Given the description of an element on the screen output the (x, y) to click on. 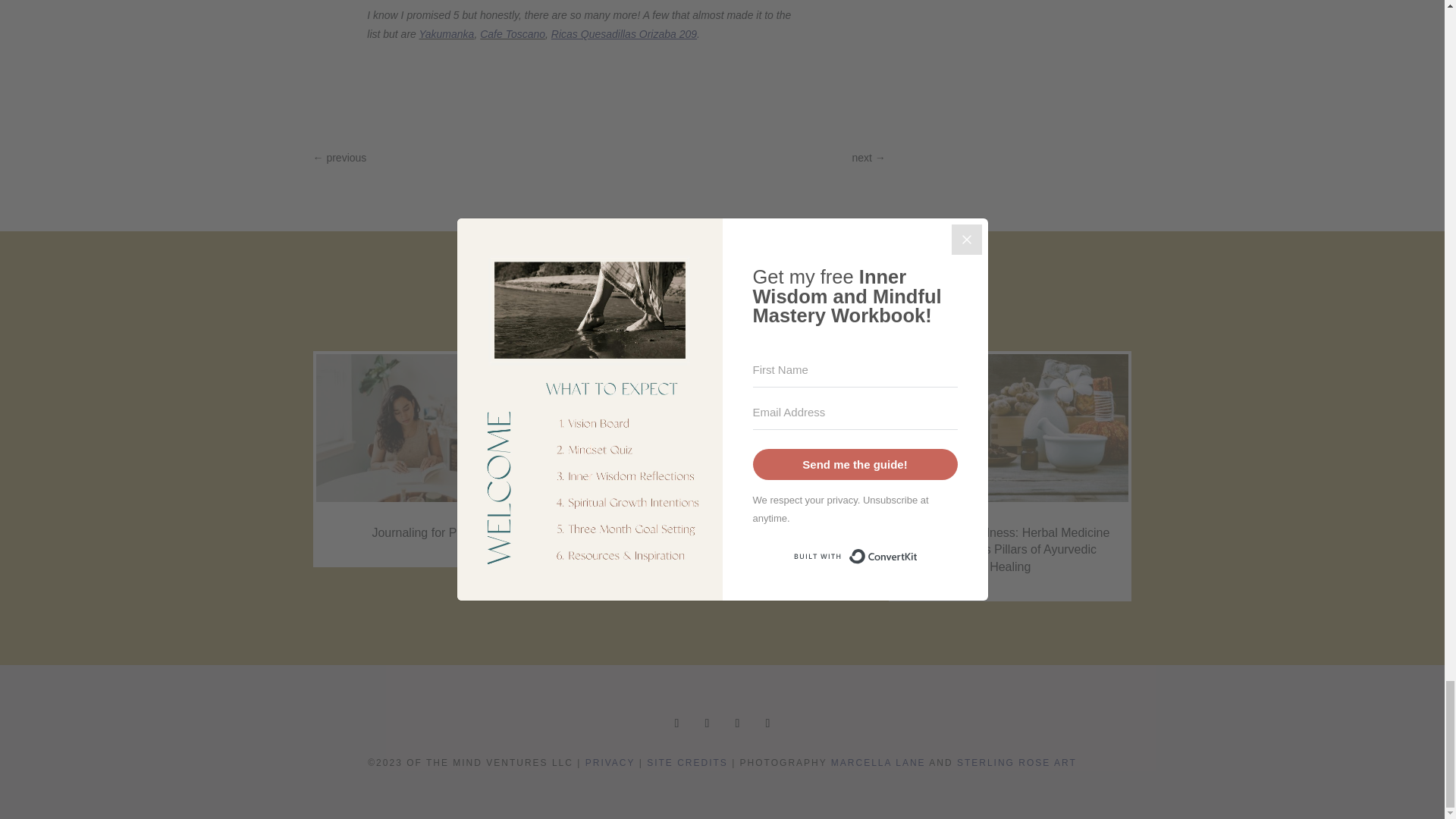
Follow on Instagram (675, 723)
Follow on Spotify (766, 723)
Follow on Pinterest (737, 723)
Follow on LinkedIn (706, 723)
